Given the description of an element on the screen output the (x, y) to click on. 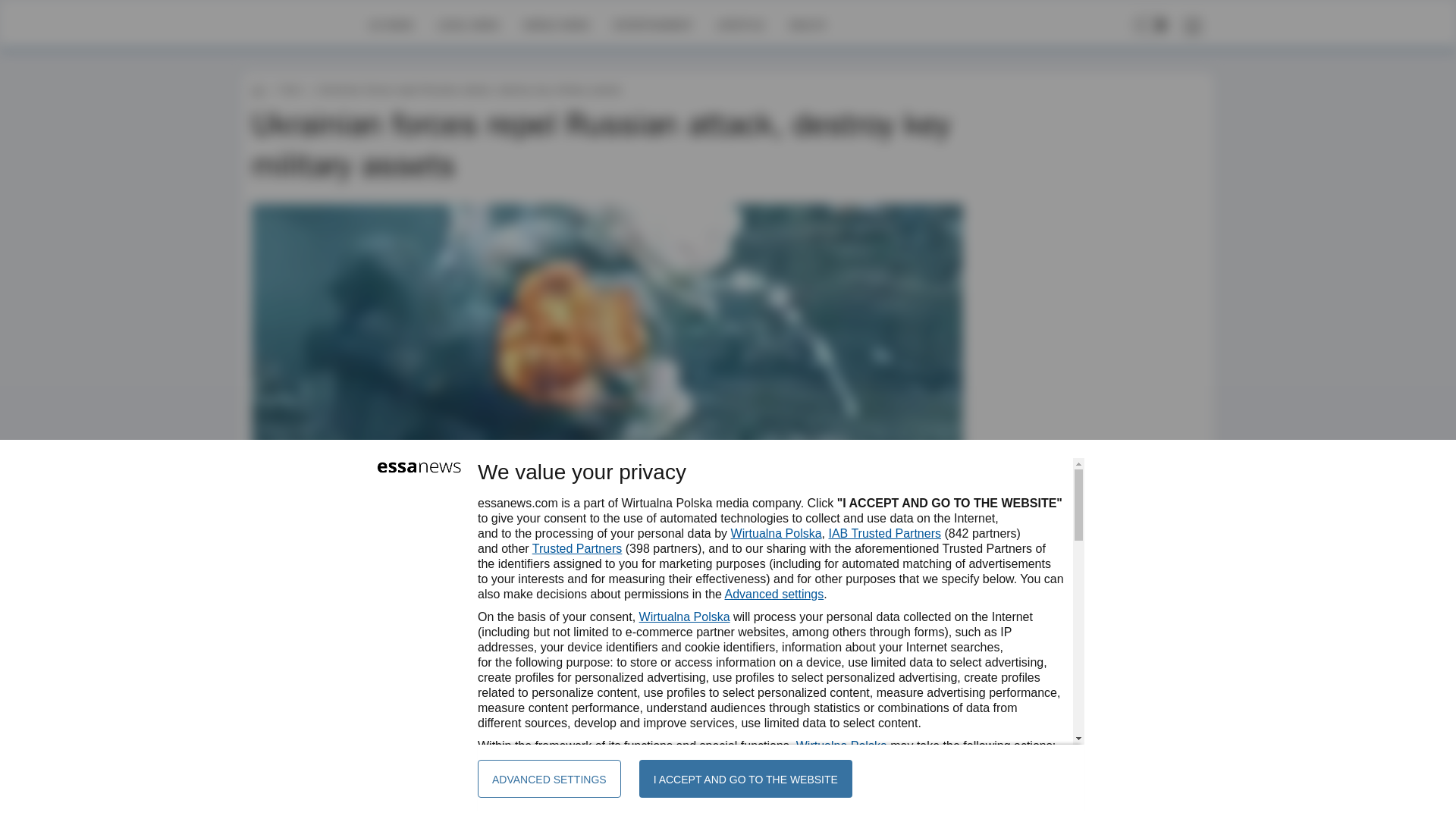
Tech (290, 89)
essanews.com (257, 89)
LOCAL NEWS (468, 24)
US NEWS (390, 24)
MT (296, 641)
MT (296, 641)
Homepage (305, 24)
LIFESTYLE (740, 24)
ENTERTAINMENT (652, 24)
HEALTH (807, 24)
SHARE (936, 649)
WORLD NEWS (555, 24)
Tech (290, 89)
